Given the description of an element on the screen output the (x, y) to click on. 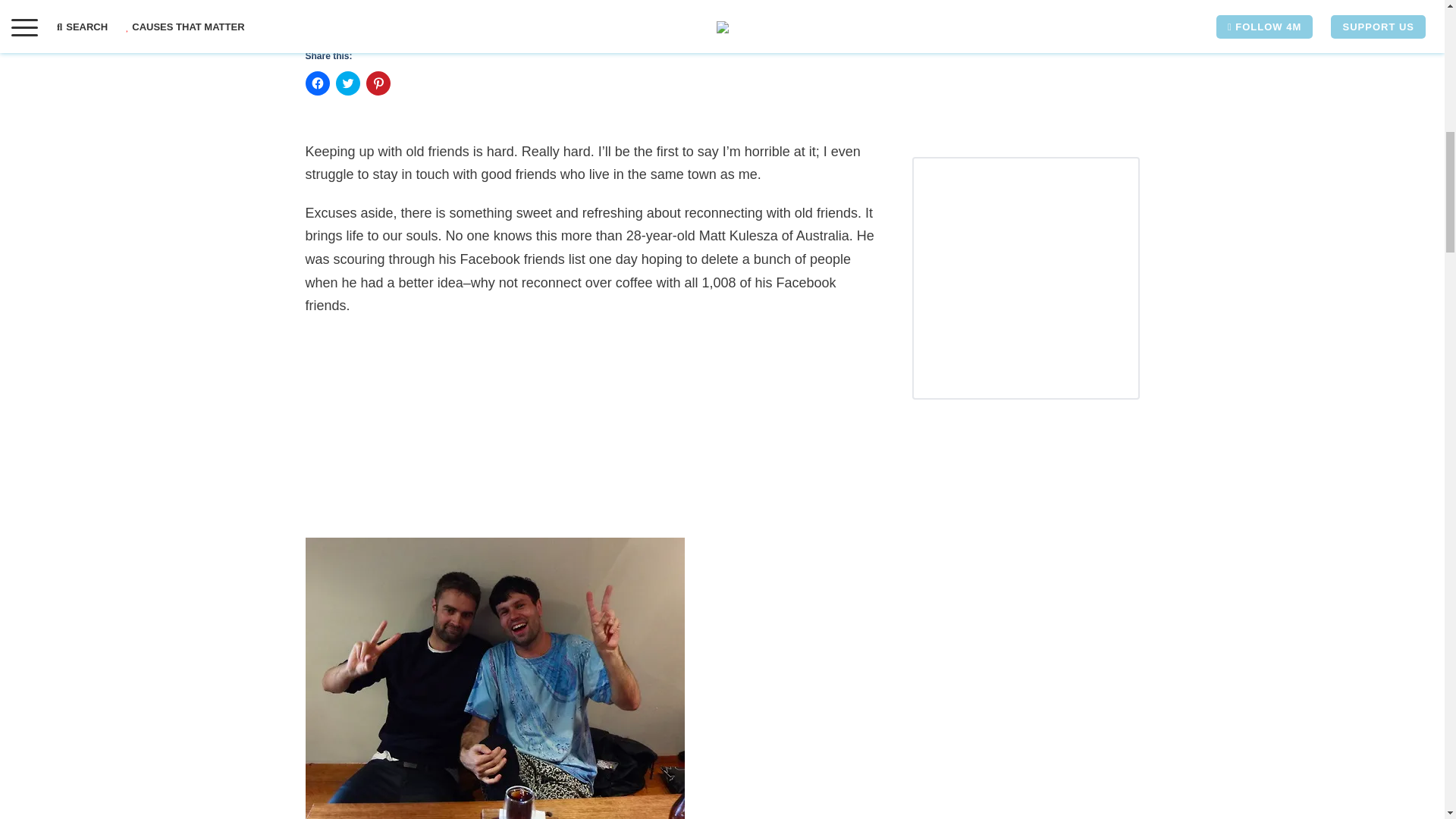
Click to share on Pinterest (377, 83)
Click to share on Twitter (346, 83)
Click to share on Facebook (316, 83)
